Given the description of an element on the screen output the (x, y) to click on. 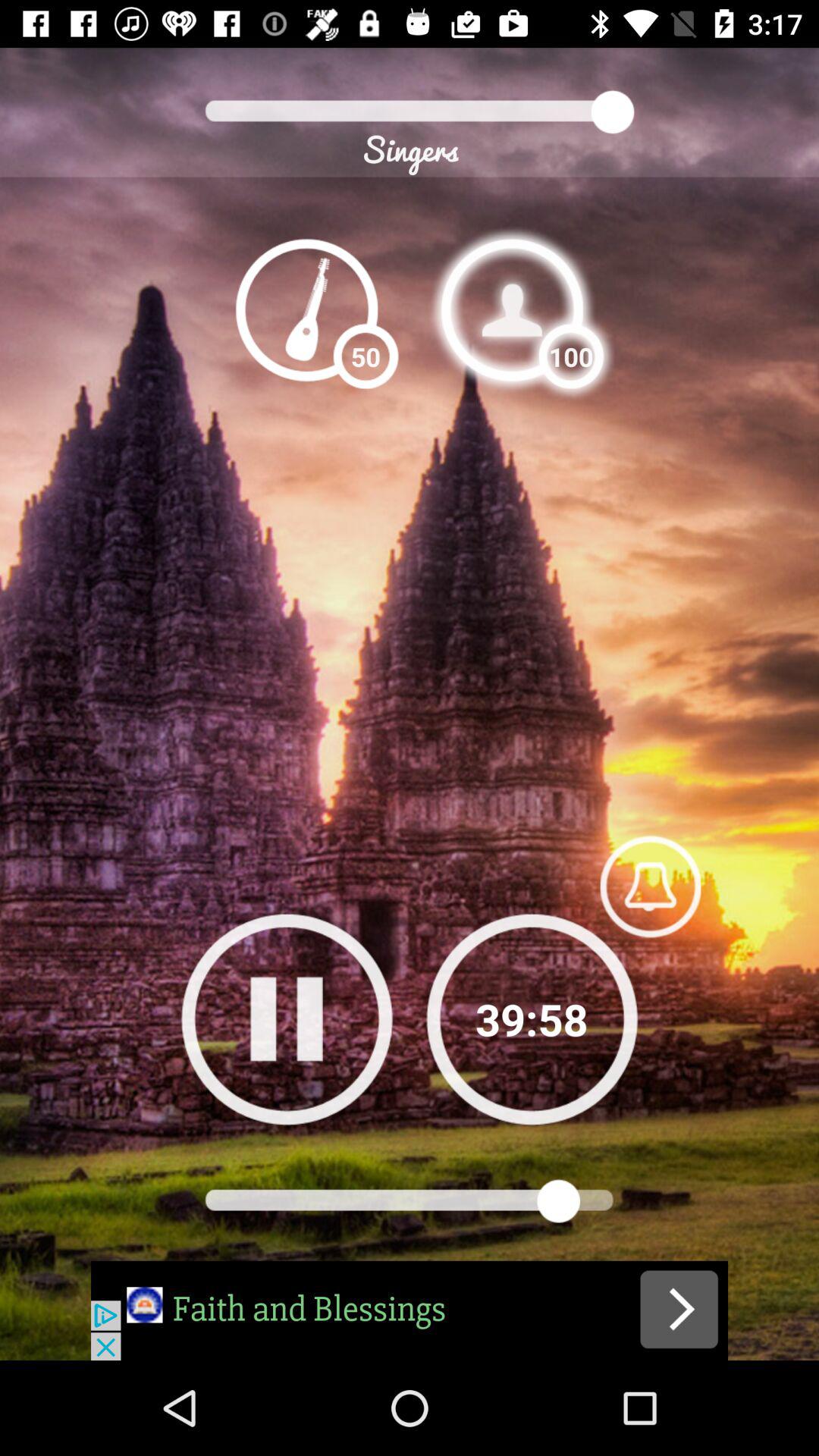
sound toggle (649, 885)
